Given the description of an element on the screen output the (x, y) to click on. 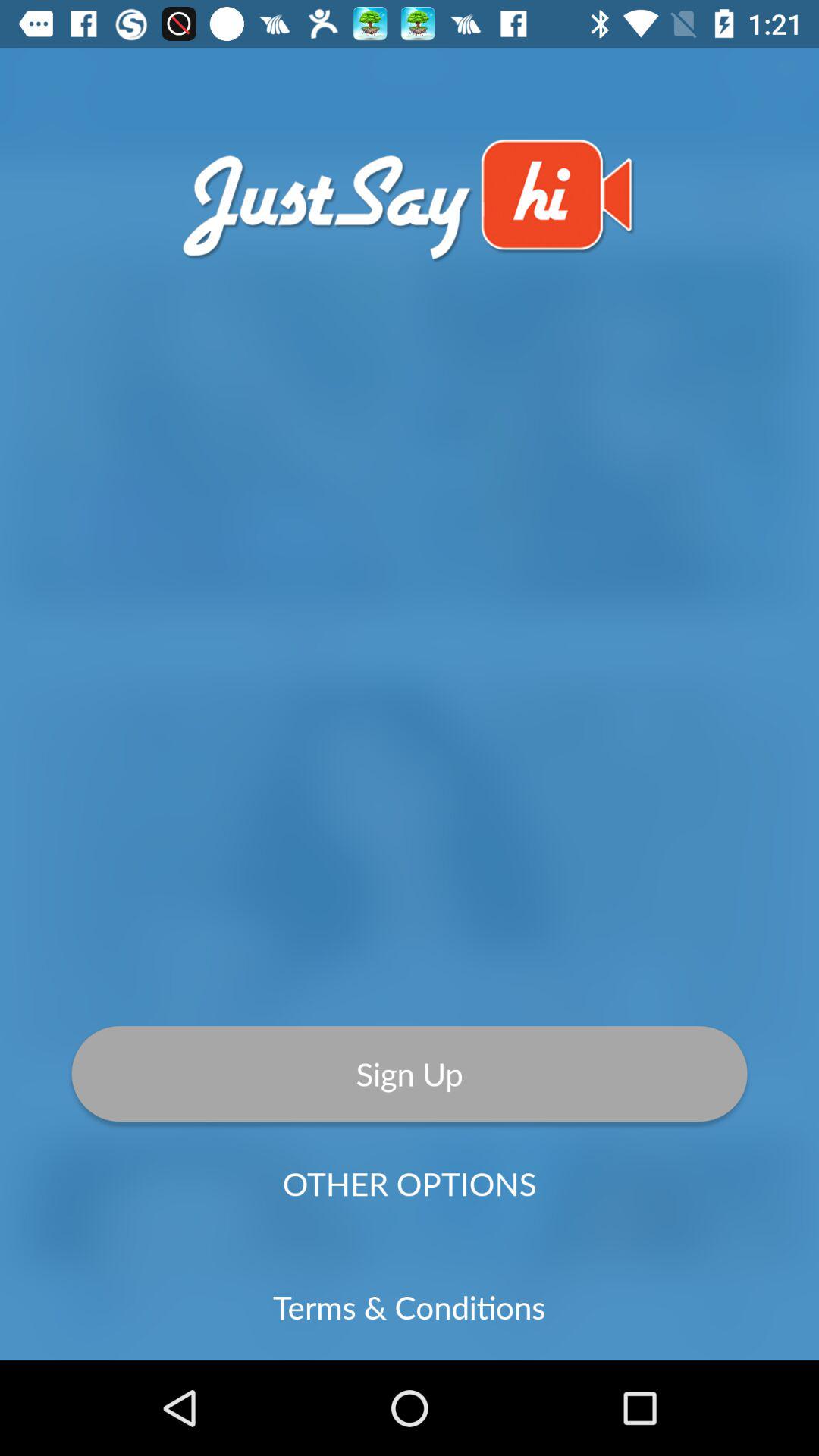
open icon below other options item (409, 1306)
